Given the description of an element on the screen output the (x, y) to click on. 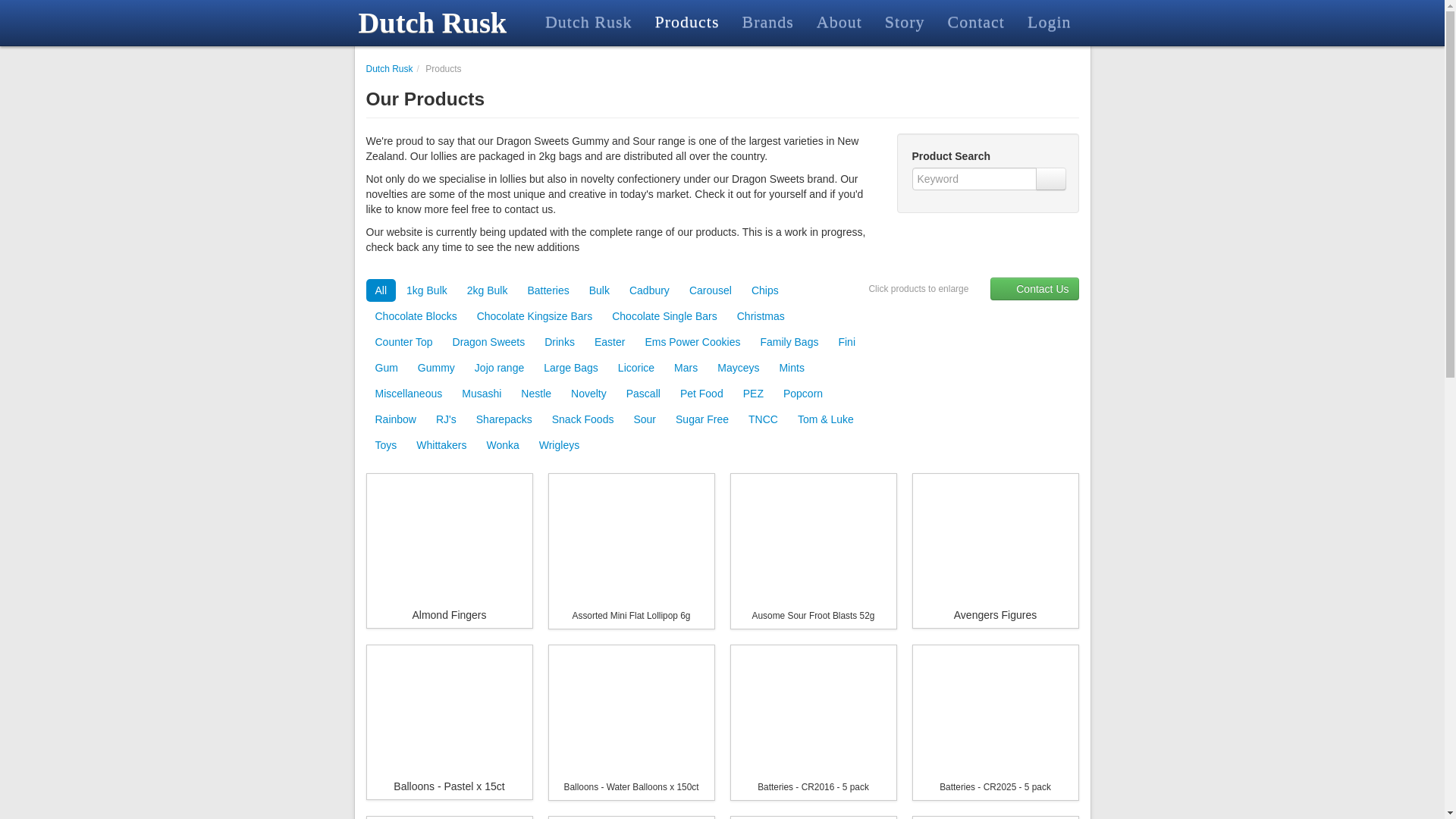
Dragon Sweets (489, 341)
Ems Power Cookies (691, 341)
Chocolate Blocks (415, 315)
Jojo range (498, 367)
Gummy (436, 367)
Counter Top (403, 341)
About (839, 21)
Products (686, 21)
Miscellaneous (408, 393)
Contact (975, 21)
Chocolate Single Bars (664, 315)
Brands (767, 21)
Mars (685, 367)
Large Bags (570, 367)
Drinks (559, 341)
